Given the description of an element on the screen output the (x, y) to click on. 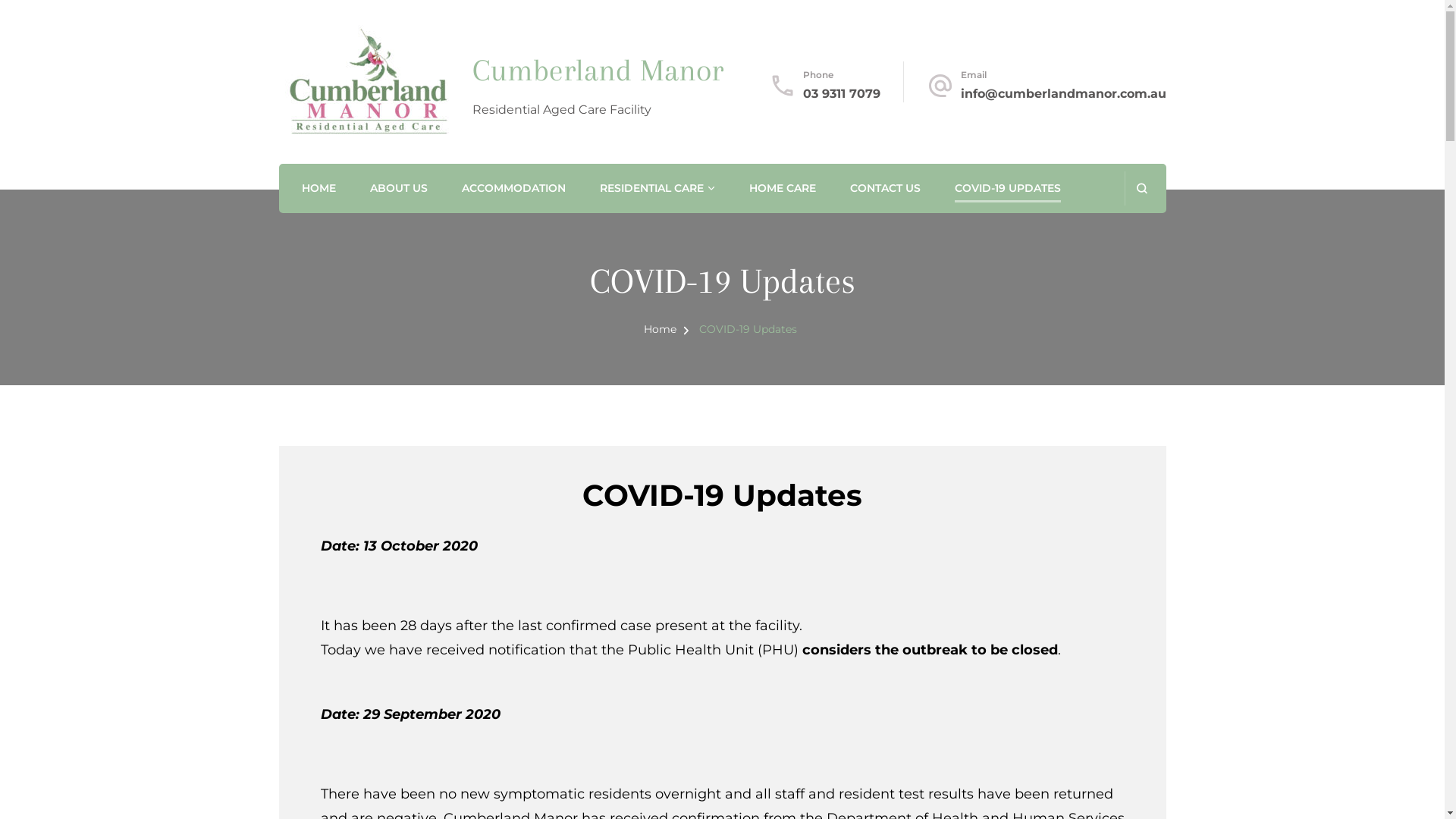
03 9311 7079 Element type: text (840, 93)
COVID-19 Updates Element type: text (748, 328)
info@cumberlandmanor.com.au Element type: text (1062, 93)
CONTACT US Element type: text (884, 189)
Cumberland Manor Element type: text (596, 70)
ABOUT US Element type: text (398, 189)
HOME Element type: text (318, 189)
COVID-19 UPDATES Element type: text (1006, 189)
RESIDENTIAL CARE Element type: text (650, 189)
Home Element type: text (659, 328)
ACCOMMODATION Element type: text (512, 189)
HOME CARE Element type: text (782, 189)
